Given the description of an element on the screen output the (x, y) to click on. 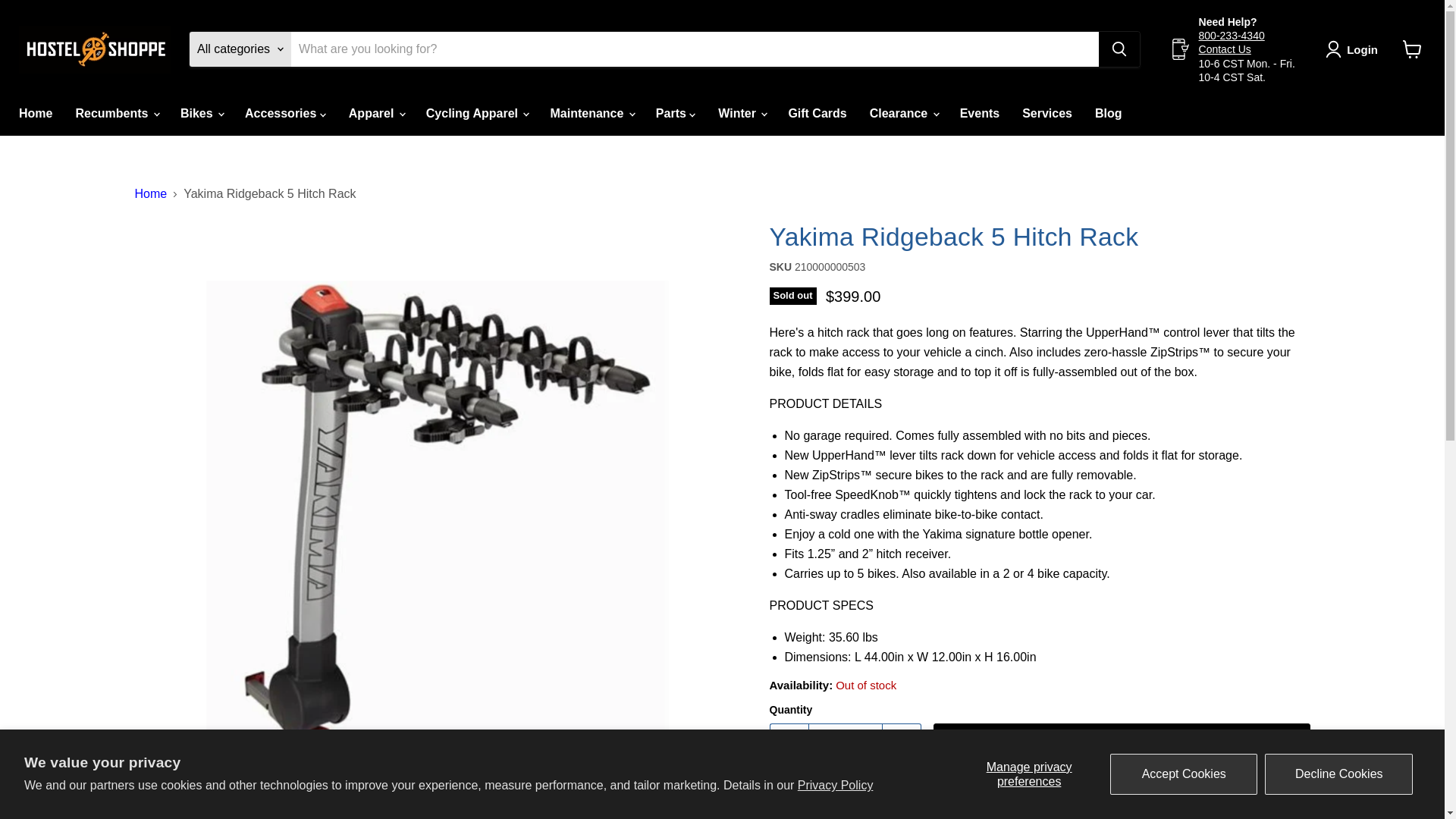
Hostel Shoppe's toll free phone number. (1231, 35)
Login (1354, 49)
Manage privacy preferences (1028, 773)
Contact Us (1224, 49)
Visit the Hostel Shoppe "Contact Us" page. (1224, 49)
Privacy Policy (835, 784)
Accept Cookies (1183, 773)
800-233-4340 (1231, 35)
Decline Cookies (1338, 773)
Home (35, 113)
1 (845, 743)
View cart (1411, 49)
